Given the description of an element on the screen output the (x, y) to click on. 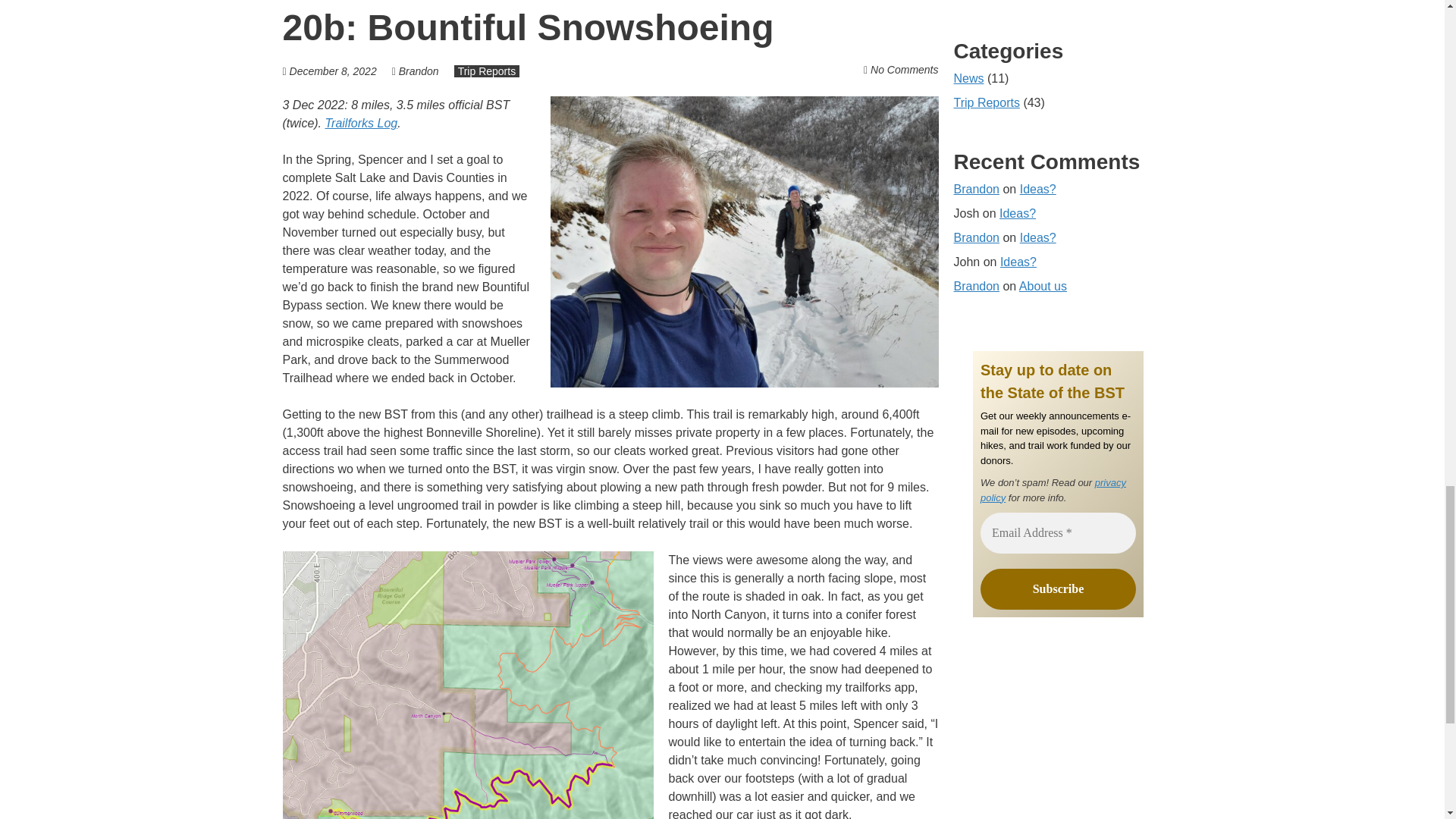
Email Address (1057, 532)
20b: Bountiful Snowshoeing (527, 27)
Trailforks Log (360, 123)
View all posts by Brandon (418, 70)
Comment on 20b: Bountiful Snowshoeing (903, 69)
Trip Reports (486, 70)
Permalink to 20b: Bountiful Snowshoeing (527, 27)
No Comments (903, 69)
December 8, 2022 (333, 70)
Brandon (418, 70)
Subscribe (1057, 588)
